Given the description of an element on the screen output the (x, y) to click on. 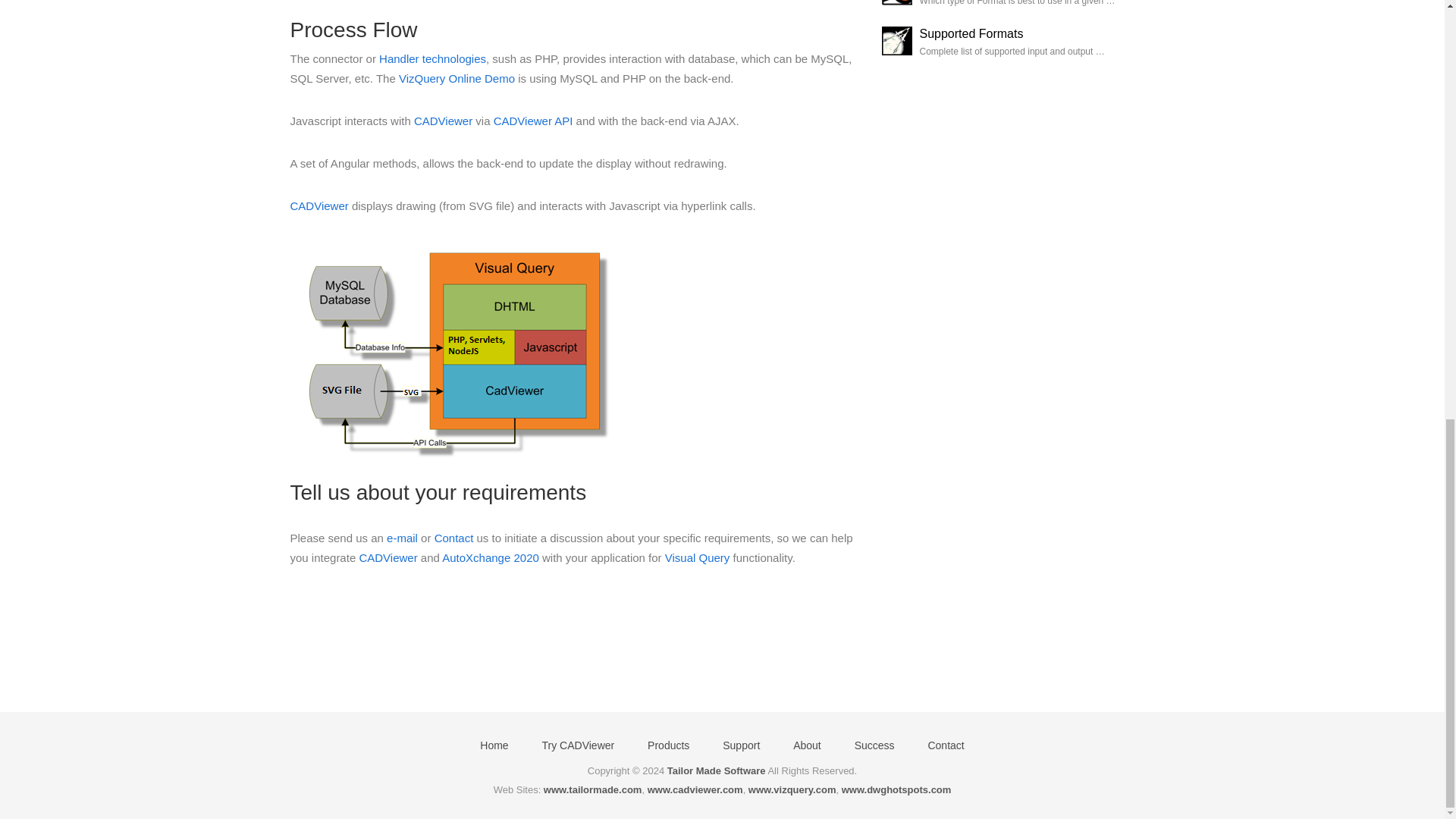
CADViewer (318, 205)
VizQuery Architecture (453, 348)
e-mail (402, 537)
Contact (453, 537)
VizQuery Online Demo (456, 78)
CADViewer API (533, 120)
Handler technologies (432, 58)
CADViewer (442, 120)
